Given the description of an element on the screen output the (x, y) to click on. 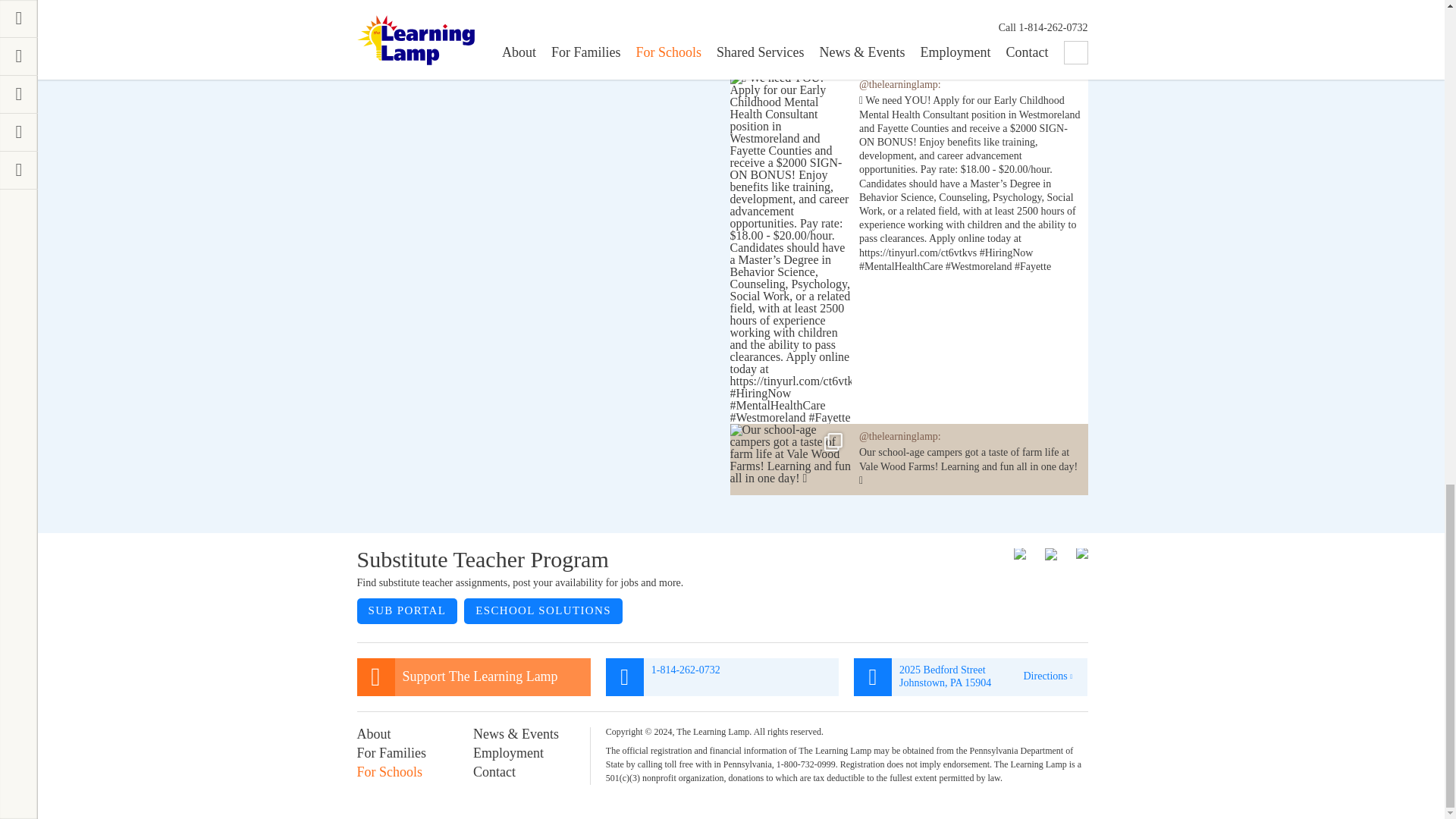
View on Facebook (640, 22)
Share (693, 22)
